Given the description of an element on the screen output the (x, y) to click on. 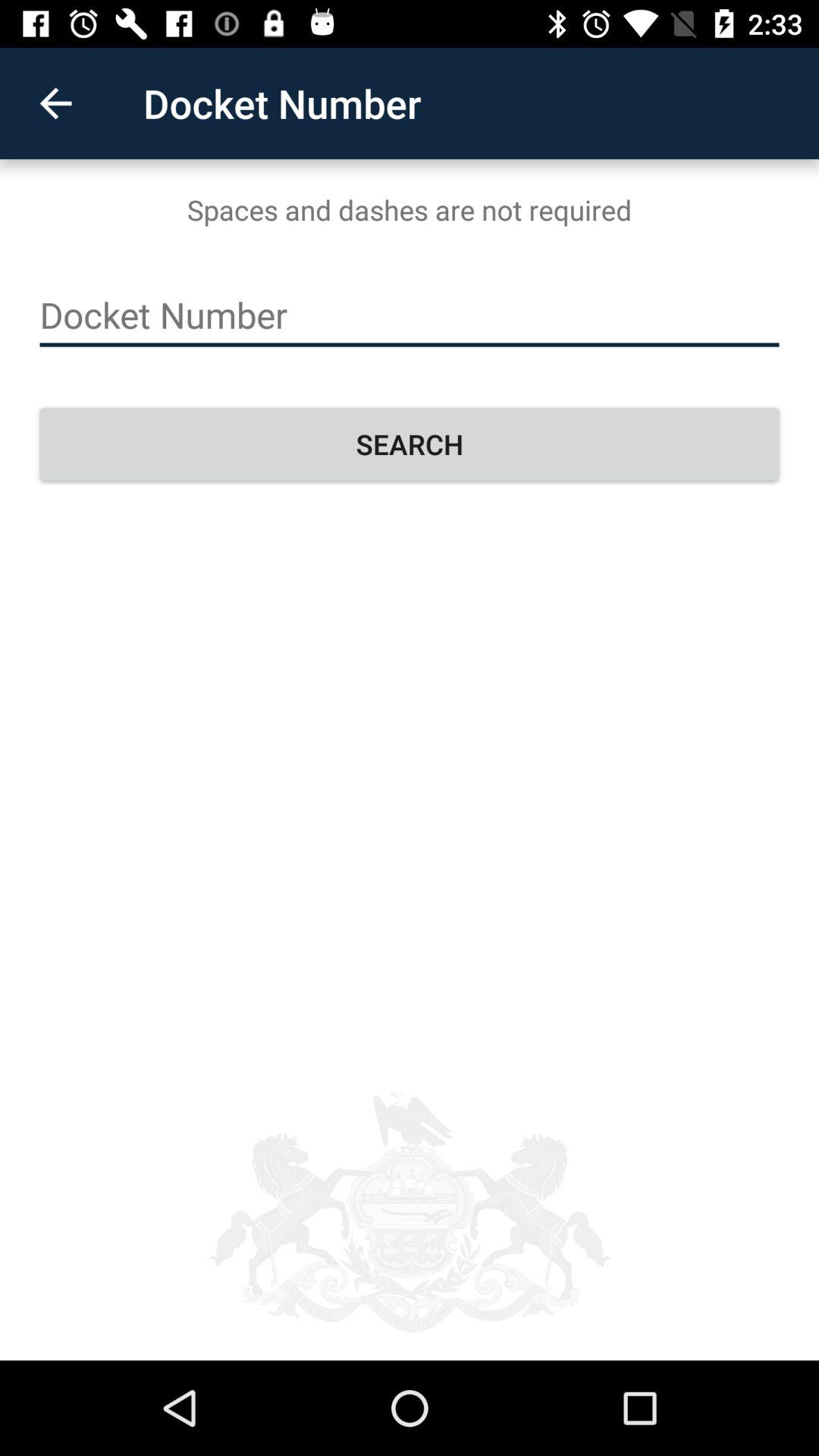
press the icon to the left of the docket number icon (55, 103)
